Given the description of an element on the screen output the (x, y) to click on. 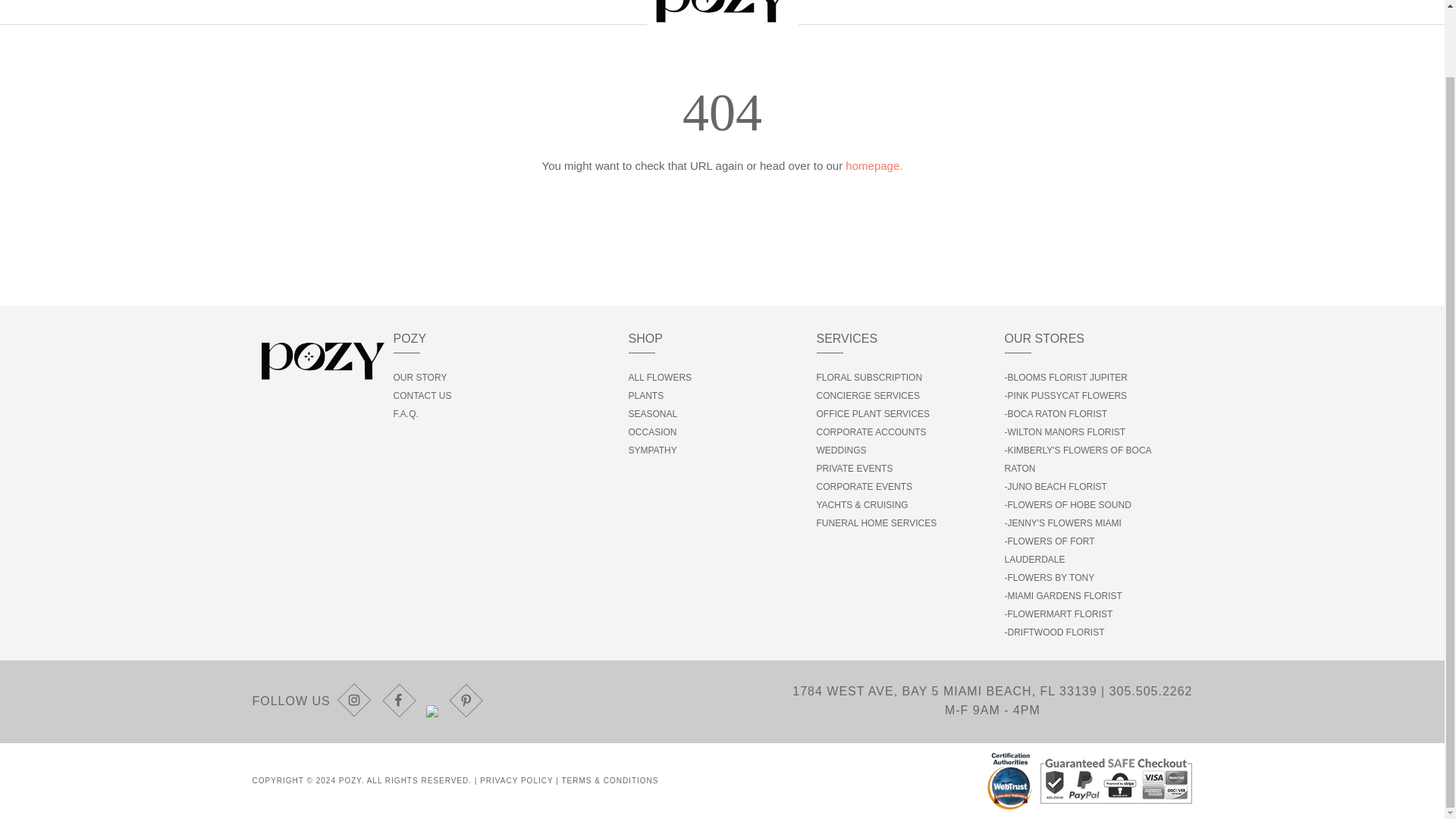
Facebook (400, 700)
Instagram (356, 700)
SHOP FRESH (399, 12)
Pinterest (465, 700)
Click to Call (1150, 690)
Pozy (721, 3)
Tik Tok (434, 700)
